Given the description of an element on the screen output the (x, y) to click on. 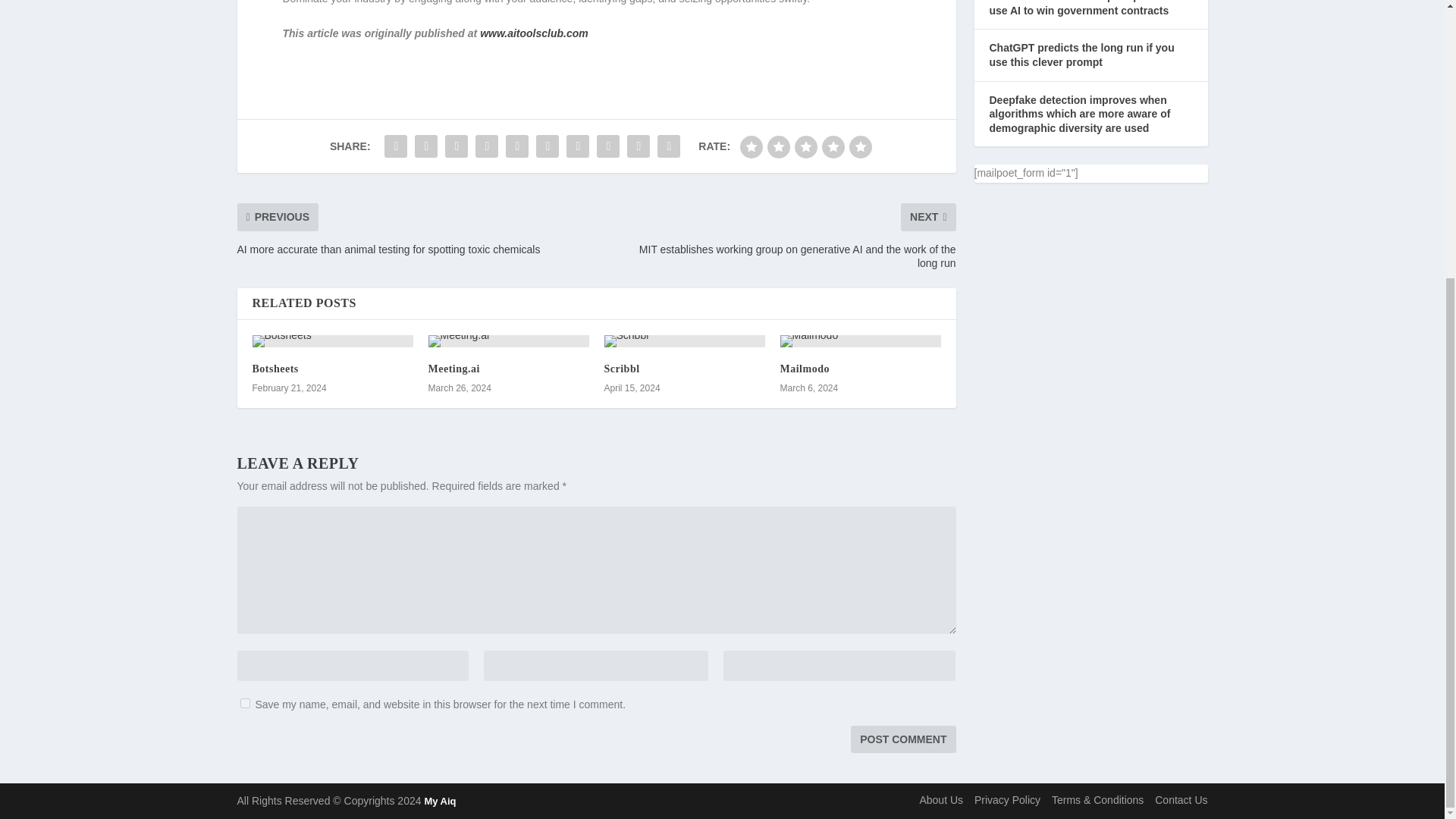
Post Comment (902, 738)
yes (244, 703)
Share "Mentionlytics" via Pinterest (517, 146)
Share "Mentionlytics" via Tumblr (486, 146)
Share "Mentionlytics" via Facebook (395, 146)
Share "Mentionlytics" via LinkedIn (547, 146)
Share "Mentionlytics" via Buffer (577, 146)
Share "Mentionlytics" via Twitter (425, 146)
